Given the description of an element on the screen output the (x, y) to click on. 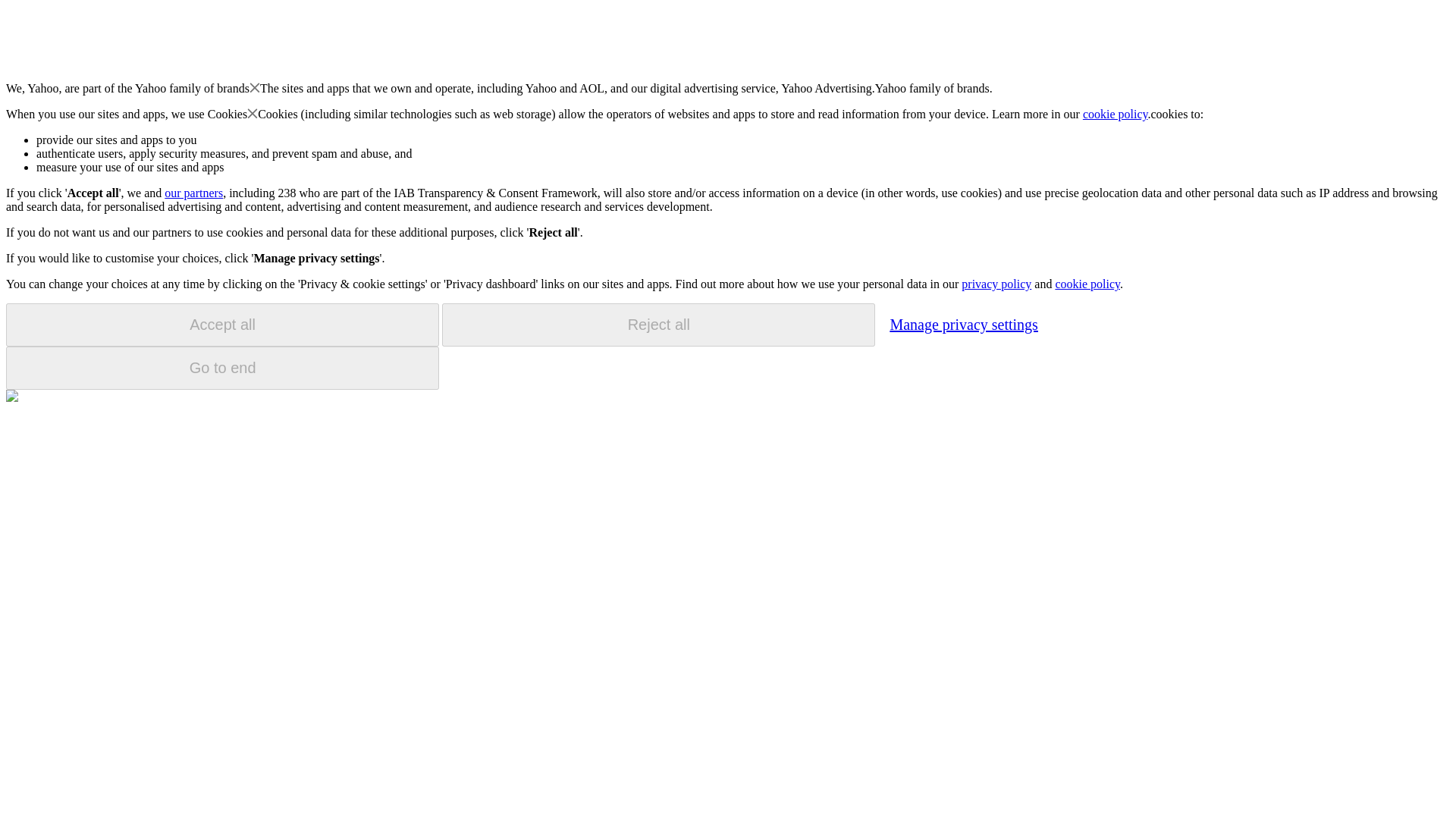
Manage privacy settings (963, 323)
cookie policy (1086, 283)
Go to end (222, 367)
Accept all (222, 324)
our partners (193, 192)
Reject all (658, 324)
cookie policy (1115, 113)
privacy policy (995, 283)
